Given the description of an element on the screen output the (x, y) to click on. 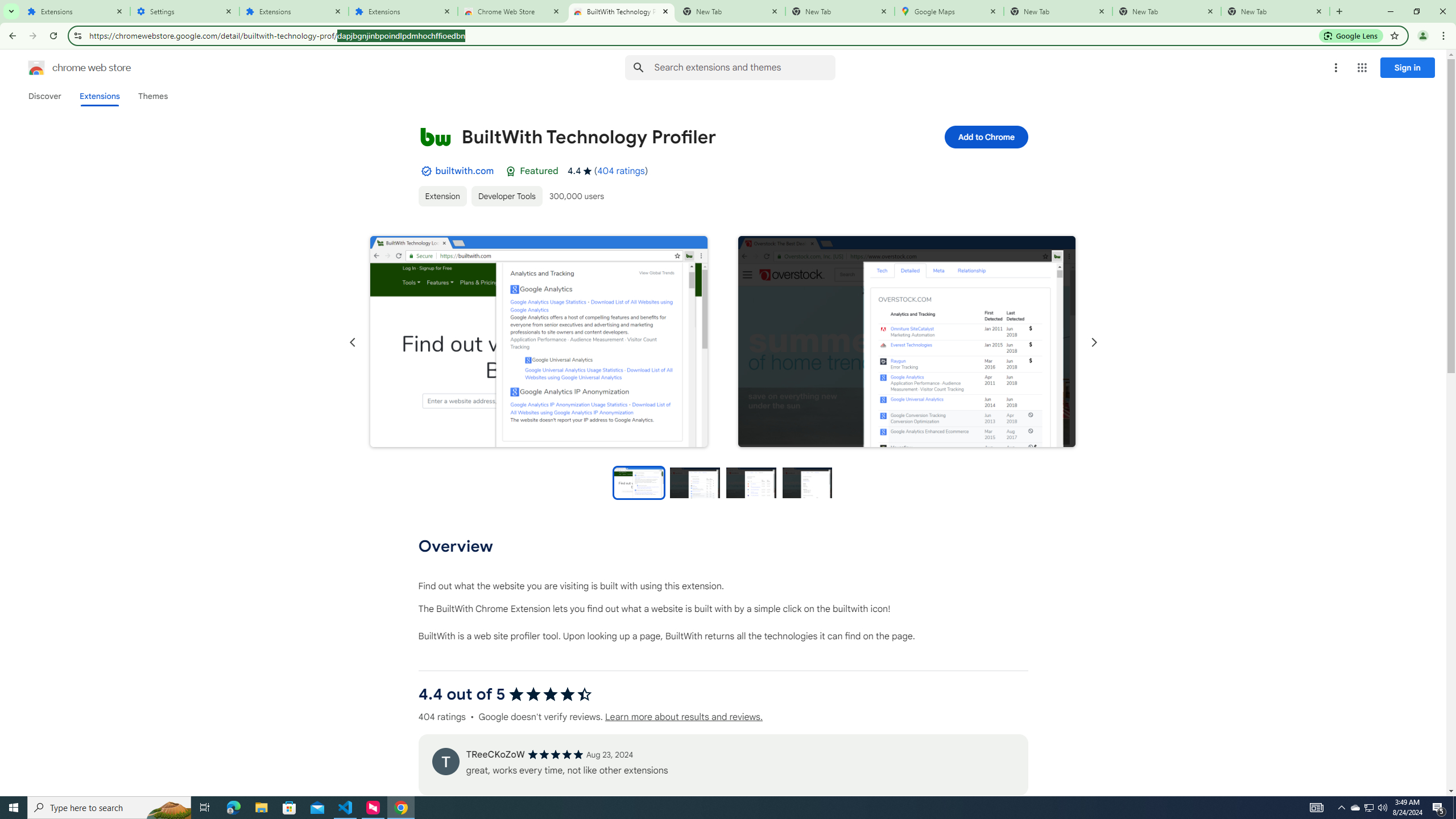
Search input (744, 67)
New Tab (839, 11)
Item media 1 screenshot (538, 341)
Chrome Web Store logo chrome web store (67, 67)
Google Maps (949, 11)
builtwith.com (464, 170)
Developer Tools (506, 195)
Chrome Web Store logo (36, 67)
Extensions (75, 11)
4.4 out of 5 stars (549, 693)
Item media 1 screenshot (538, 342)
